Given the description of an element on the screen output the (x, y) to click on. 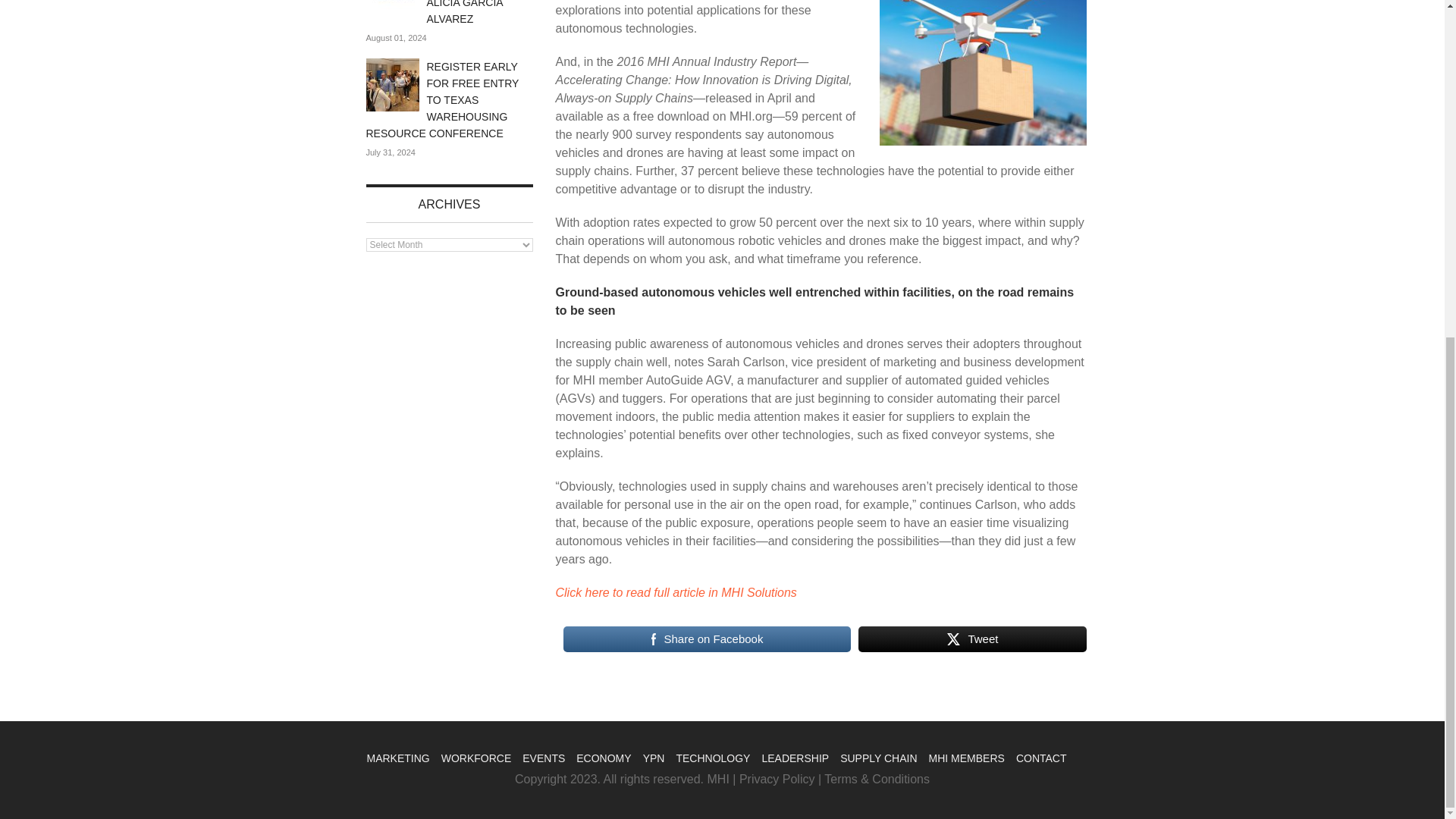
MHI MEMBERS (966, 757)
ECONOMY (603, 757)
YPN (654, 757)
CONTACT (1041, 757)
Click here to read full article in MHI Solutions (675, 592)
TECHNOLOGY (712, 757)
Privacy Policy (777, 779)
MARKETING (397, 757)
SUPPLY CHAIN (878, 757)
Share on Facebook (706, 638)
Tweet (972, 638)
EVENTS (543, 757)
WORKFORCE (476, 757)
